Given the description of an element on the screen output the (x, y) to click on. 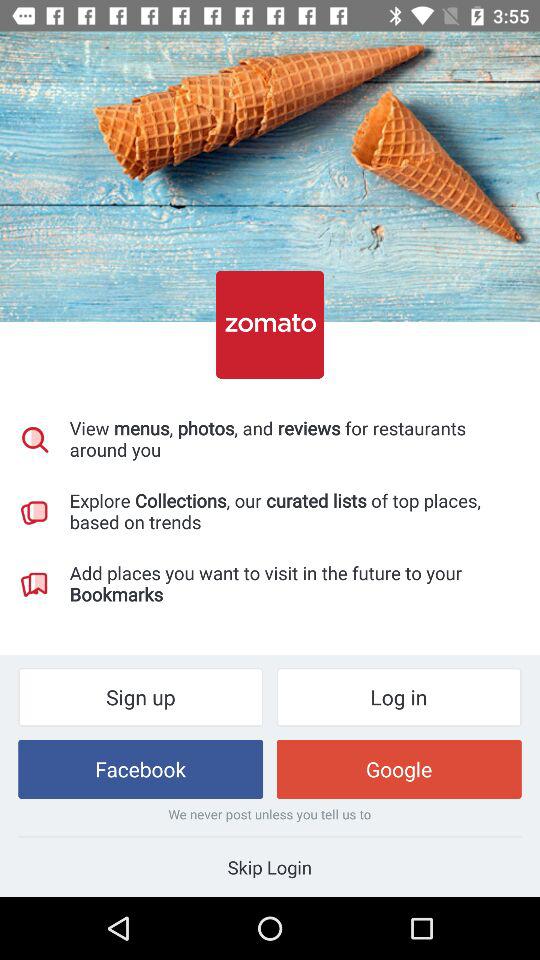
turn off item below the sign up item (140, 768)
